Given the description of an element on the screen output the (x, y) to click on. 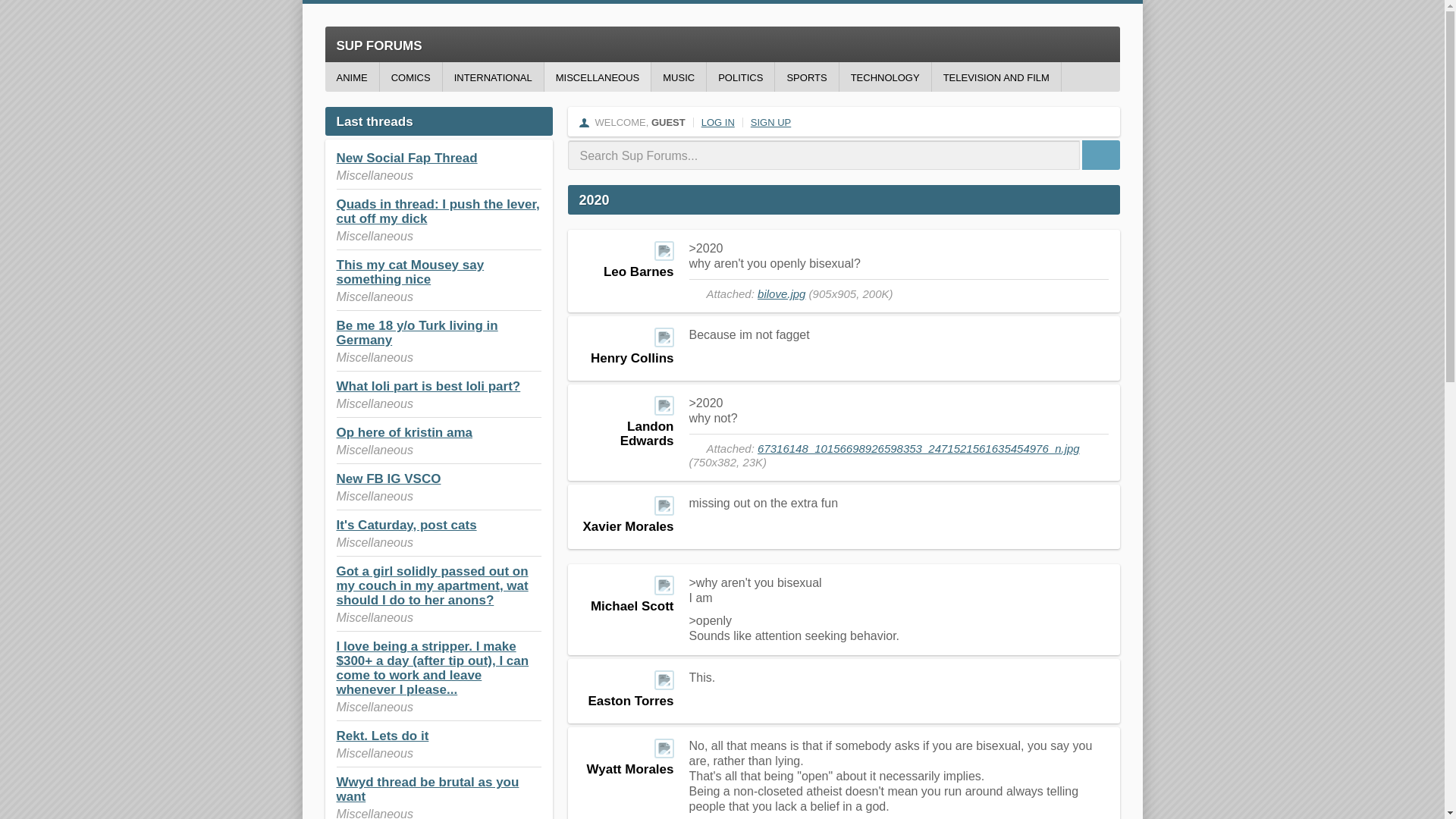
Rekt. Lets do it (382, 735)
Quads in thread: I push the lever, cut off my dick (438, 211)
New Social Fap Thread (406, 157)
MISCELLANEOUS (597, 76)
This my cat Mousey say something nice (410, 271)
MUSIC (678, 76)
What loli part is best loli part? (428, 386)
SUP FORUMS (721, 44)
bilove.jpg (781, 293)
